Given the description of an element on the screen output the (x, y) to click on. 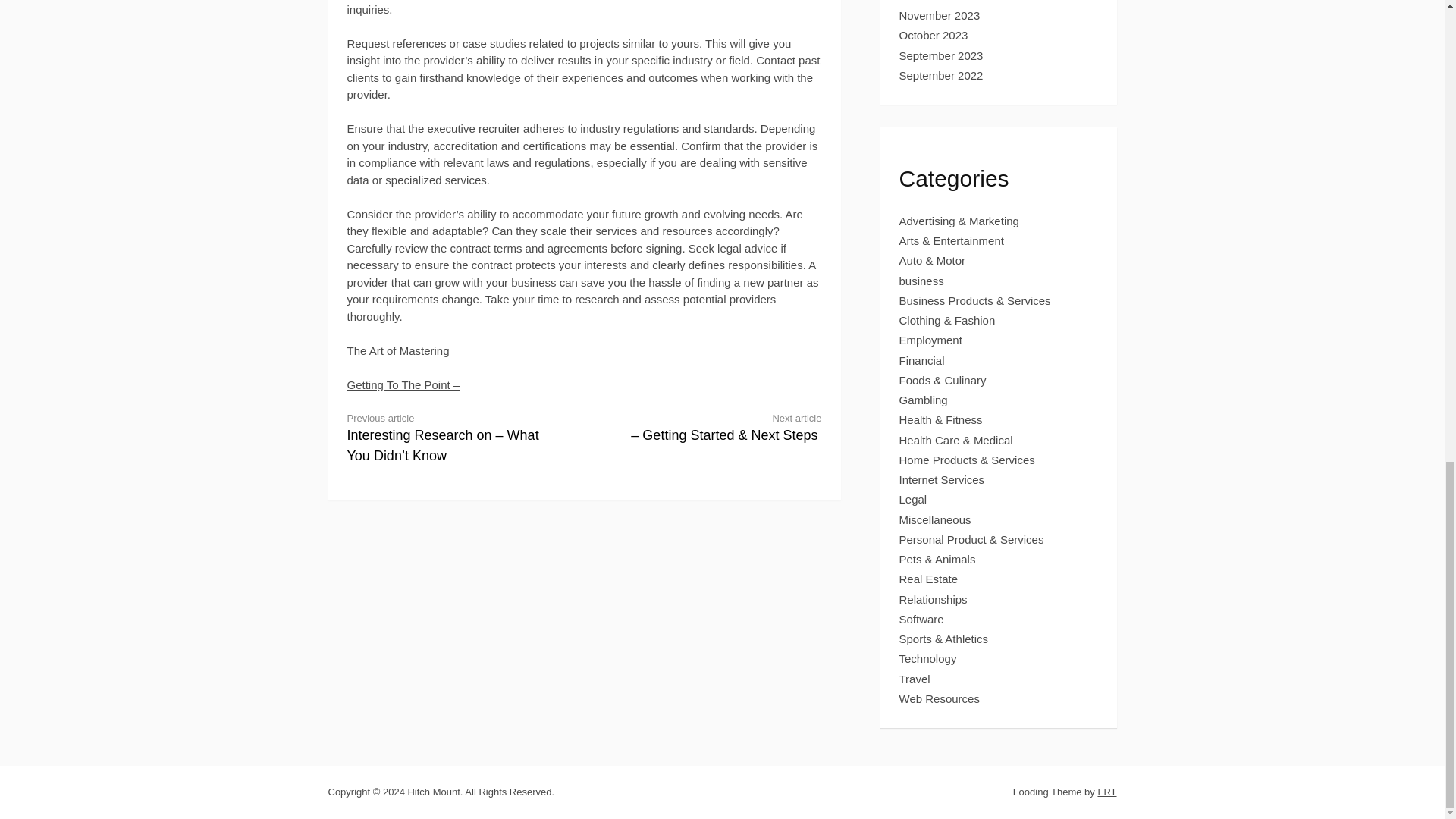
September 2022 (941, 74)
October 2023 (933, 34)
September 2023 (941, 55)
December 2023 (939, 1)
The Art of Mastering (398, 350)
November 2023 (939, 15)
business (921, 280)
